Given the description of an element on the screen output the (x, y) to click on. 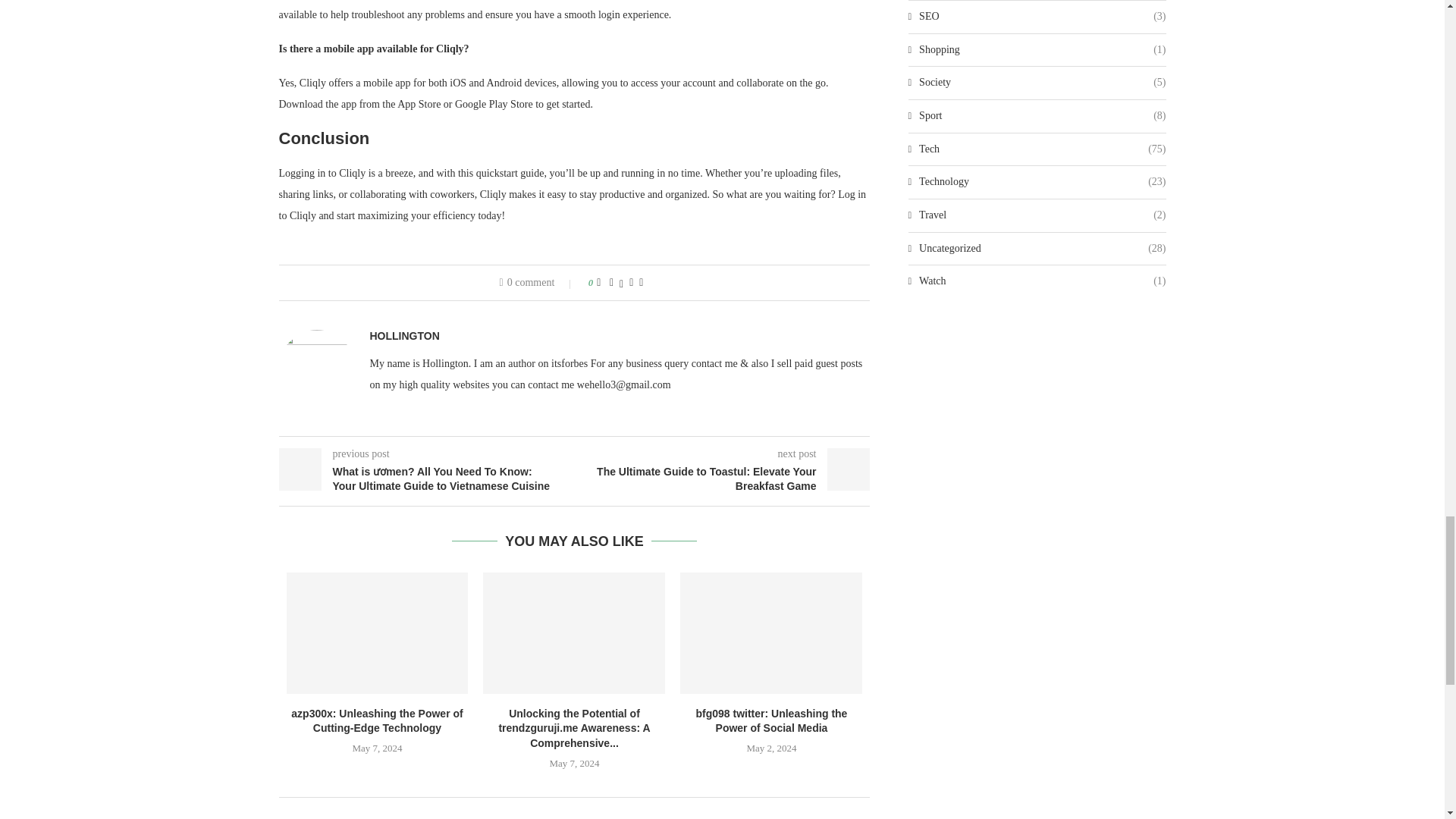
Author Hollington (404, 336)
